Given the description of an element on the screen output the (x, y) to click on. 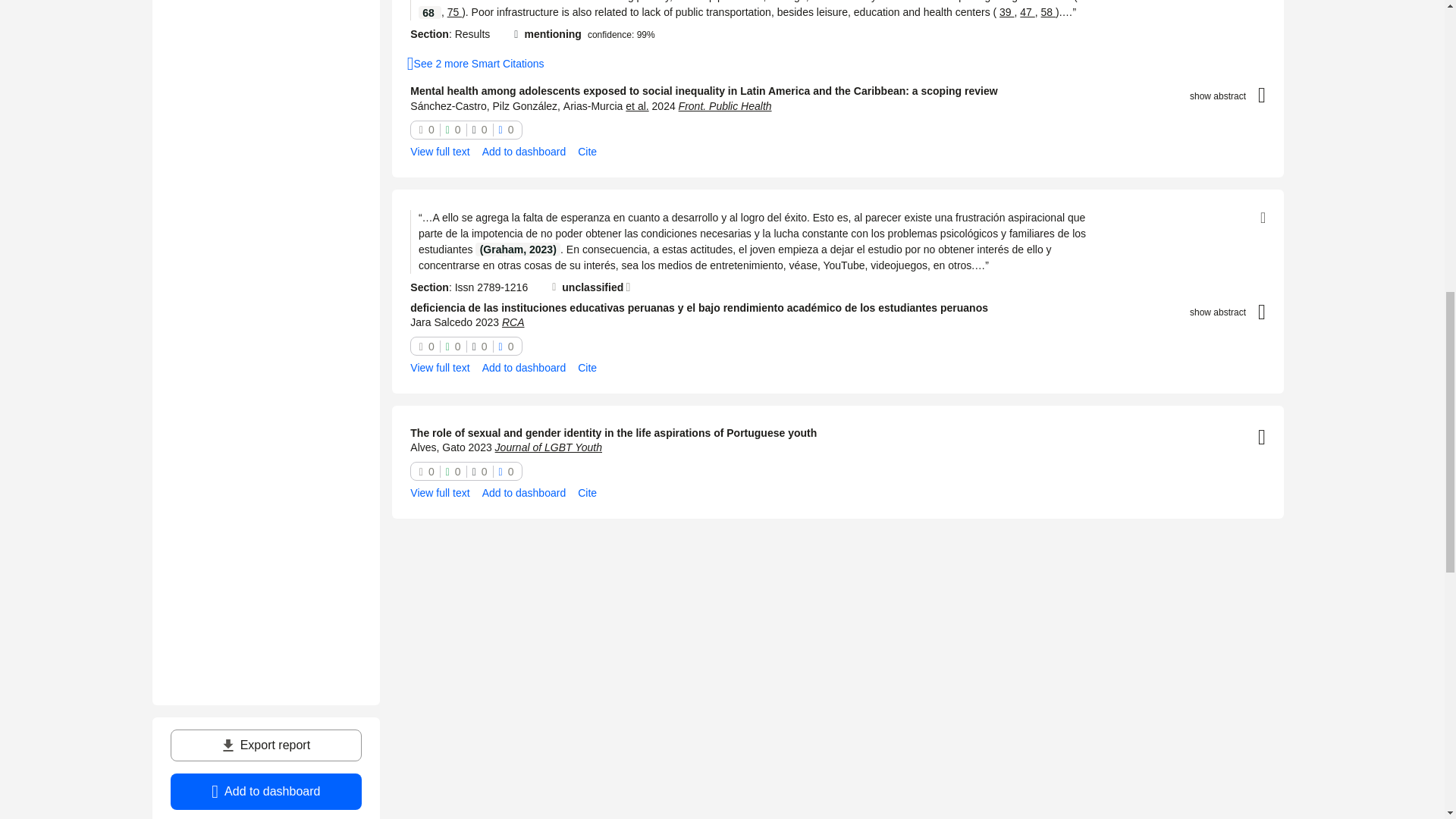
Add to dashboard (265, 791)
Add to dashboard (523, 151)
View full text (439, 151)
Cite (587, 151)
Front. Public Health (724, 105)
0000 (466, 129)
Export report (265, 745)
